Given the description of an element on the screen output the (x, y) to click on. 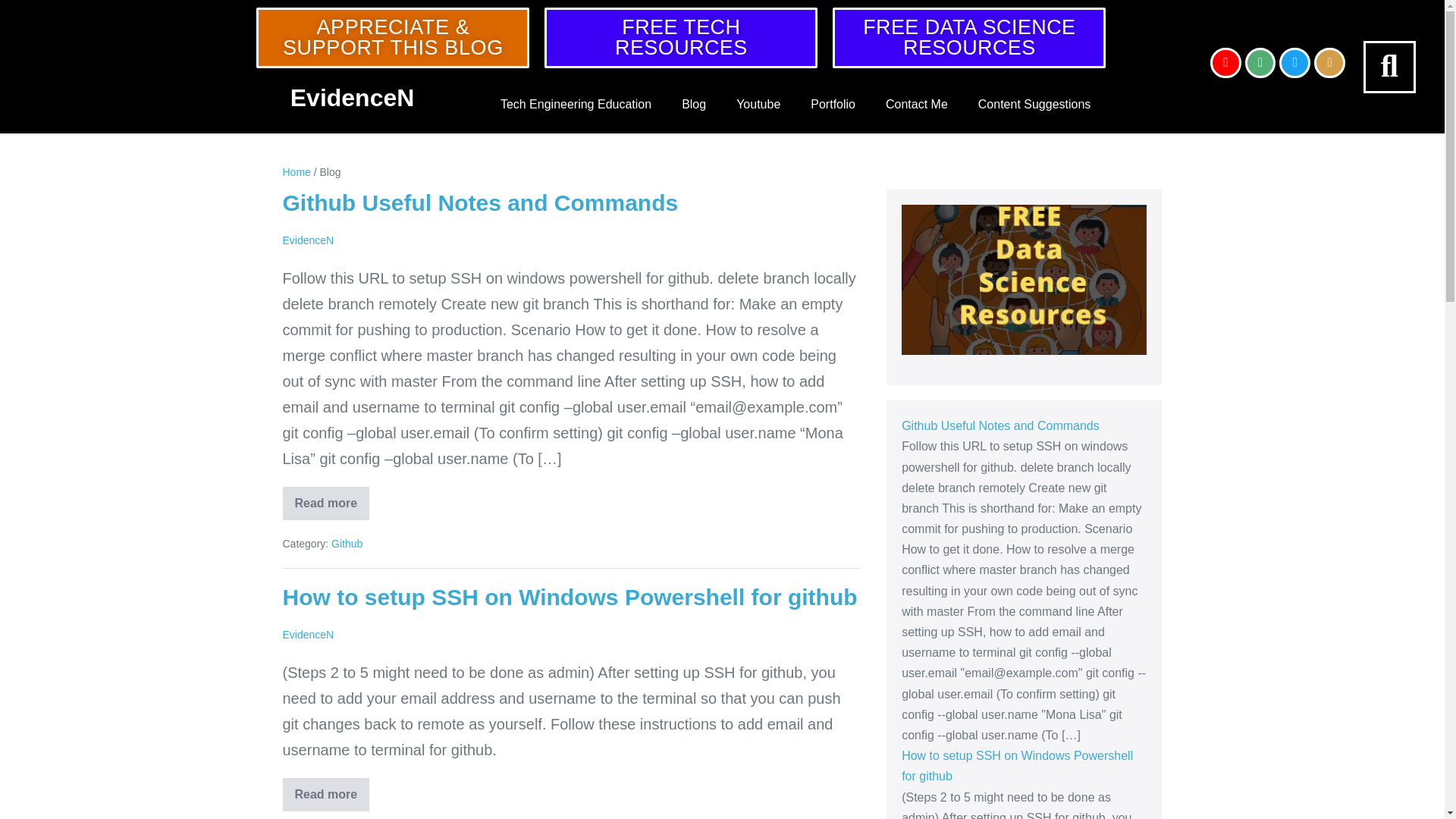
How to setup SSH on Windows Powershell for github (569, 596)
EvidenceN (351, 97)
Read more (325, 503)
View all posts by EvidenceN (307, 634)
EvidenceN (307, 240)
Github Useful Notes and Commands (480, 202)
Contact Me (916, 104)
View all posts by EvidenceN (307, 240)
Portfolio (832, 104)
Home (296, 172)
